Given the description of an element on the screen output the (x, y) to click on. 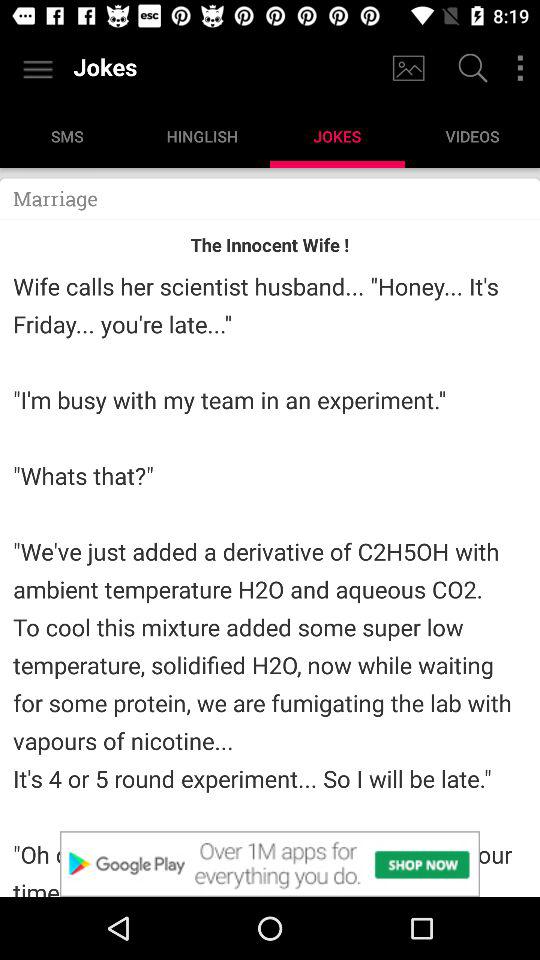
gallery (408, 67)
